Given the description of an element on the screen output the (x, y) to click on. 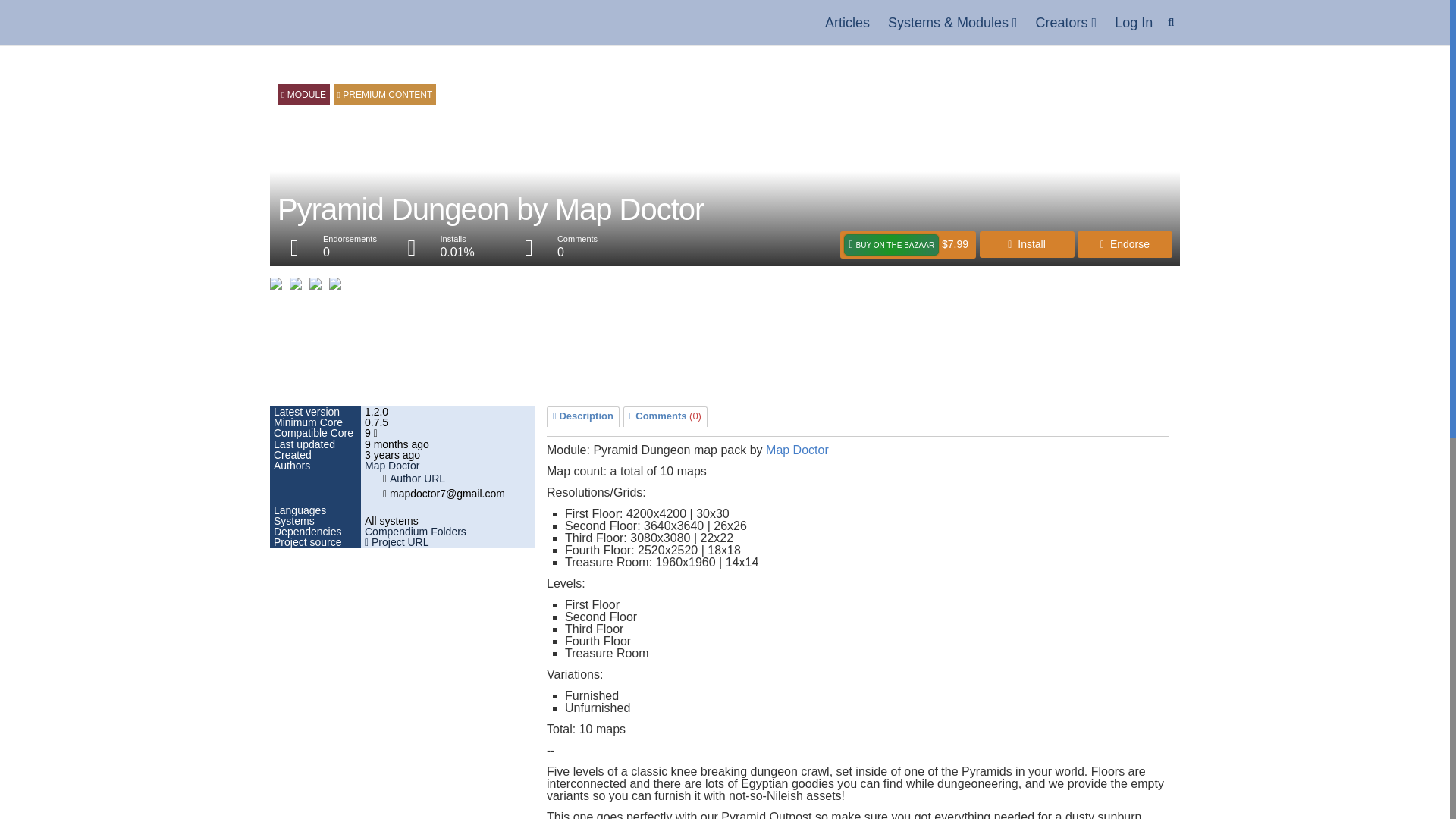
Map Doctor (796, 449)
Author URL (417, 478)
Endorse (1124, 243)
Articles (847, 22)
Map Doctor (392, 465)
Install (1026, 243)
Monday 28th of June 2021 09:20:10 PM UTC (448, 454)
Project URL (396, 541)
Log In (1133, 22)
Creators (1066, 22)
Friday 13th of October 2023 12:12:43 PM UTC (448, 443)
Compendium Folders (415, 531)
Description (582, 416)
